Given the description of an element on the screen output the (x, y) to click on. 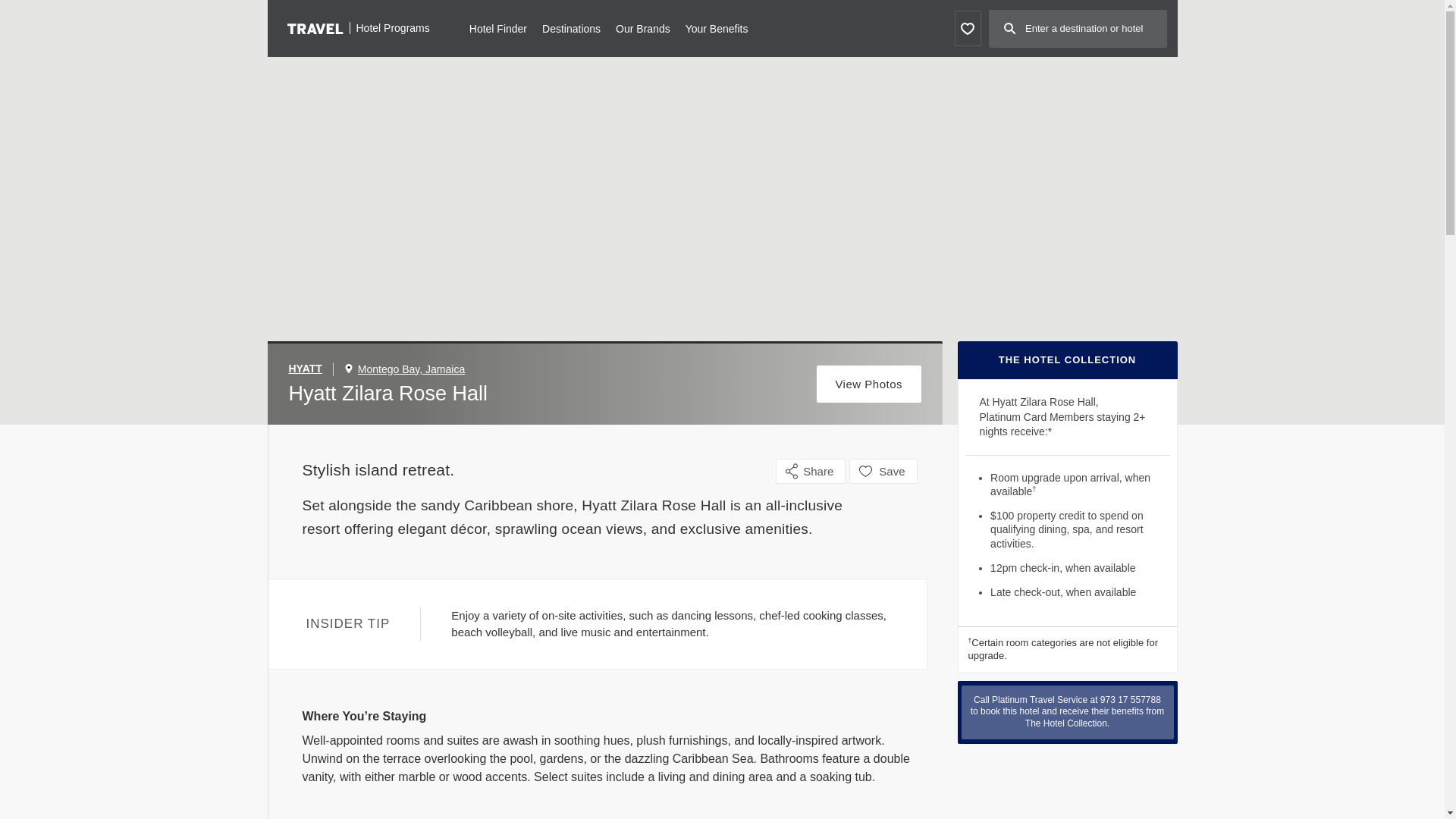
Montego Bay, Jamaica (411, 369)
Hotel Programs (357, 27)
Your Benefits (716, 27)
View Photos (868, 383)
Our Brands (642, 27)
HYATT (310, 368)
Hotel Finder (497, 27)
Save (882, 471)
Destinations (570, 27)
Share (810, 471)
